Given the description of an element on the screen output the (x, y) to click on. 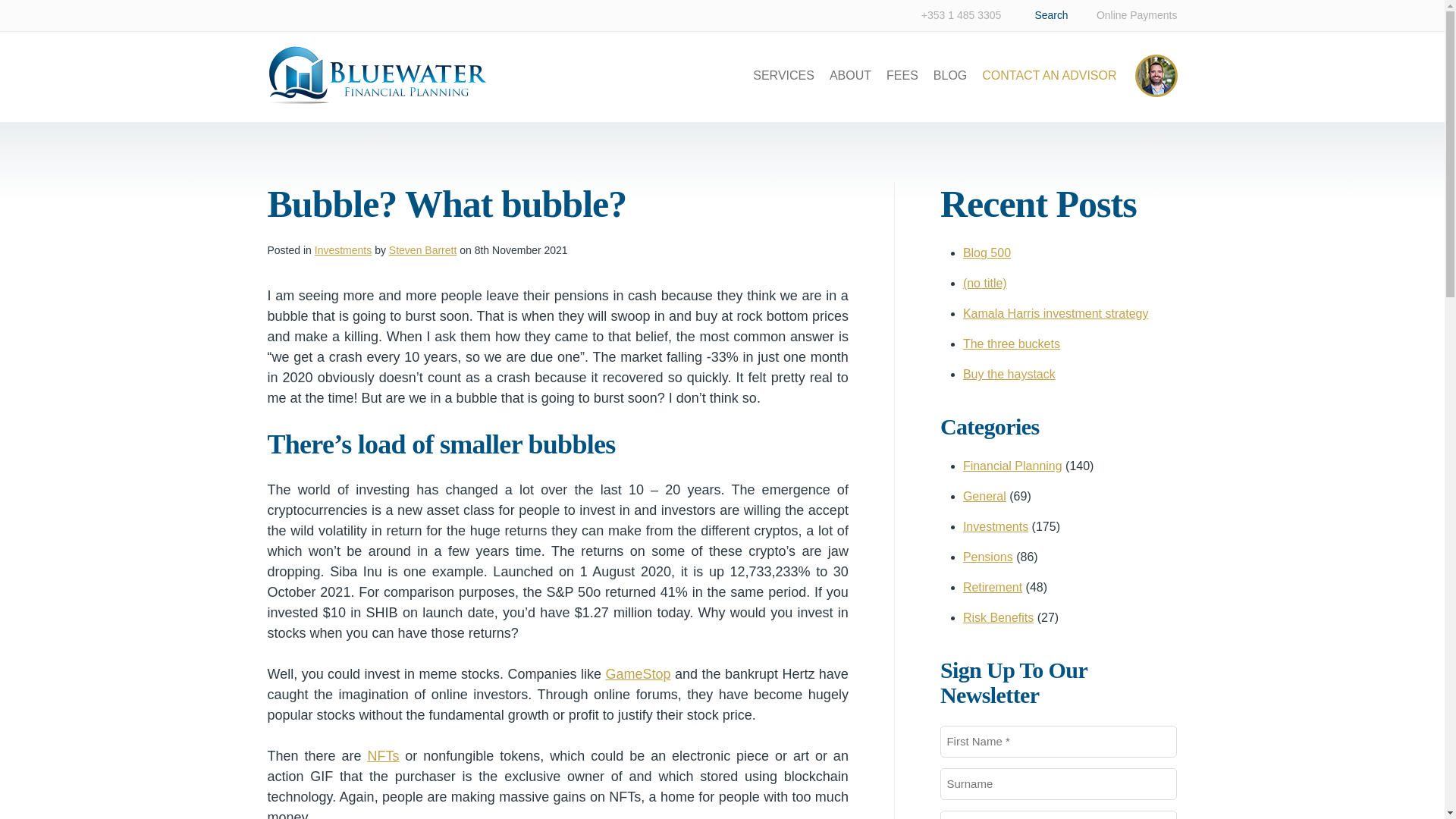
Kamala Harris investment strategy (1055, 313)
BLOG (949, 74)
Financial Planning (1012, 465)
NFTs (382, 755)
Search (1048, 13)
General (984, 495)
Buy the haystack (1008, 373)
Retirement (992, 586)
Investments (994, 526)
Search (1048, 13)
